Given the description of an element on the screen output the (x, y) to click on. 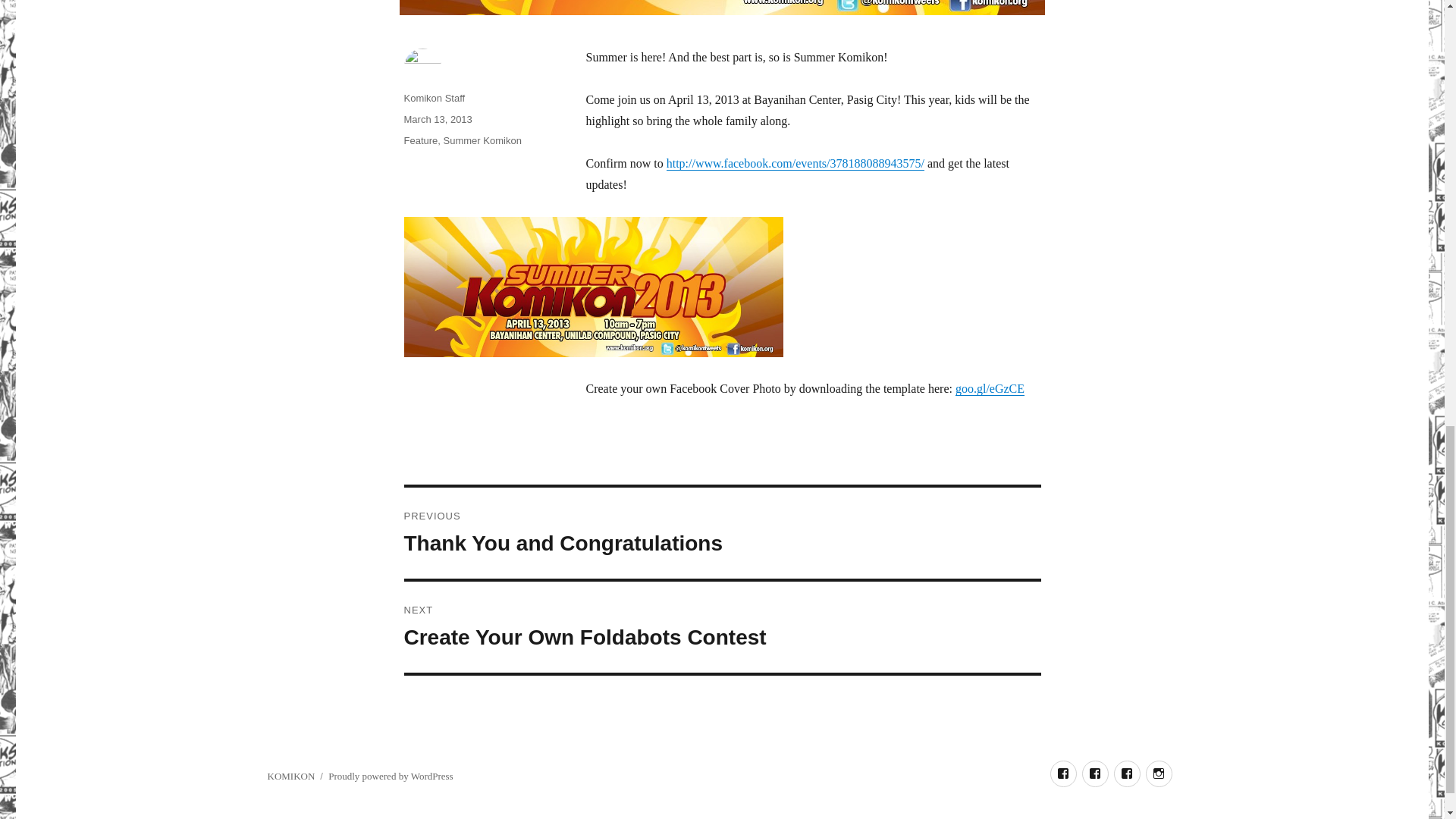
Indieket on FB (1094, 773)
Feature (420, 140)
Komikon on IG (722, 626)
Sulyap Komiks Anthology on FB (1158, 773)
Summer Komikon (1126, 773)
Komikon on FB (482, 140)
Komikon Staff (1062, 773)
Komikon on FB (433, 98)
Proudly powered by WordPress (1062, 773)
Summer Komikon 2013 Official Banner (390, 776)
Indieket on FB (593, 287)
Sulyap Komiks Anthology on FB (1094, 773)
KOMIKON (1126, 773)
